Given the description of an element on the screen output the (x, y) to click on. 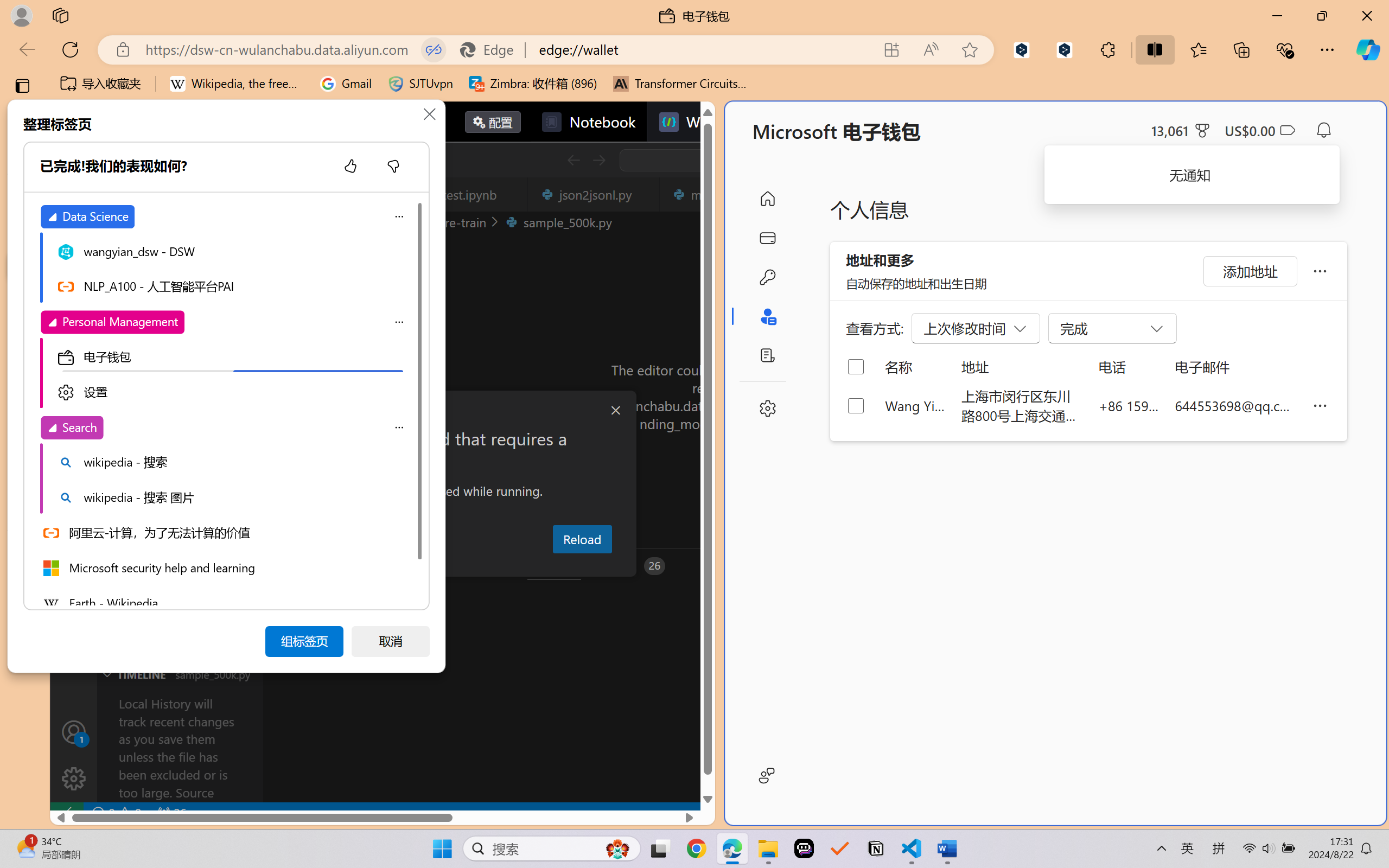
Notebook (588, 121)
Close (Ctrl+F4) (644, 194)
Class: ___1lmltc5 f1agt3bx f12qytpq (1286, 130)
